Given the description of an element on the screen output the (x, y) to click on. 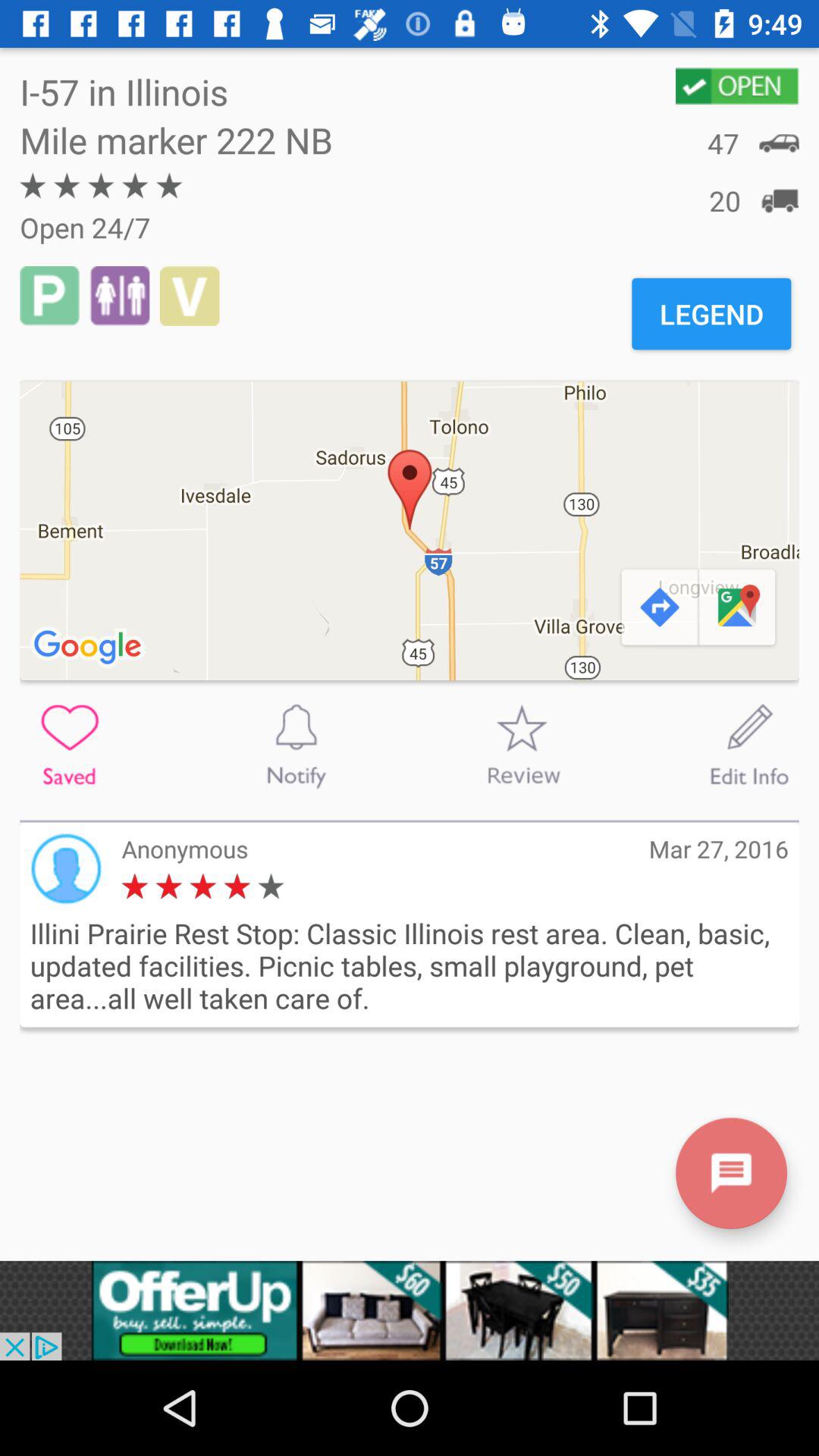
saved button (69, 744)
